Given the description of an element on the screen output the (x, y) to click on. 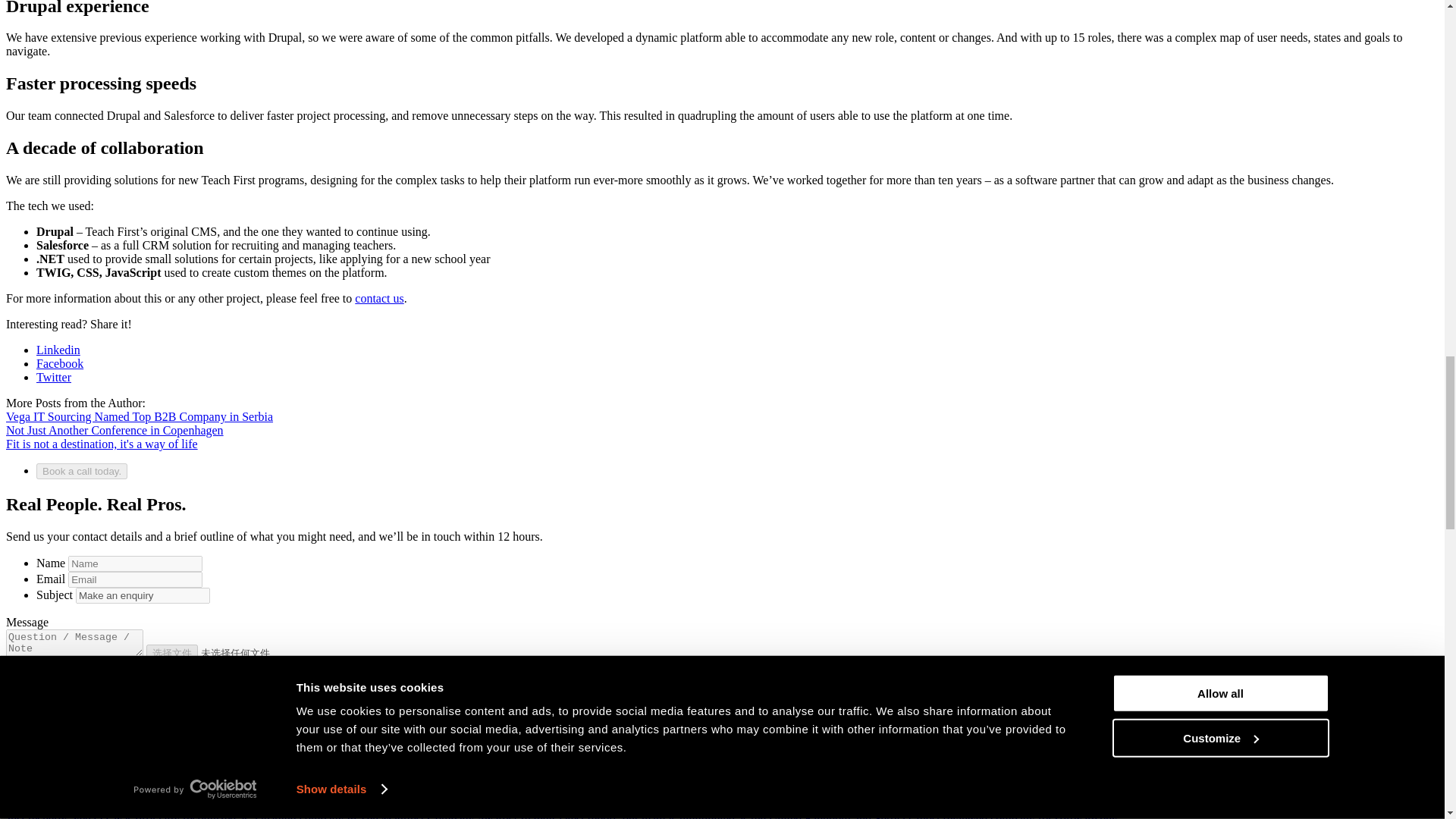
Contact (379, 297)
on (13, 683)
Make an enquiry (142, 595)
